Given the description of an element on the screen output the (x, y) to click on. 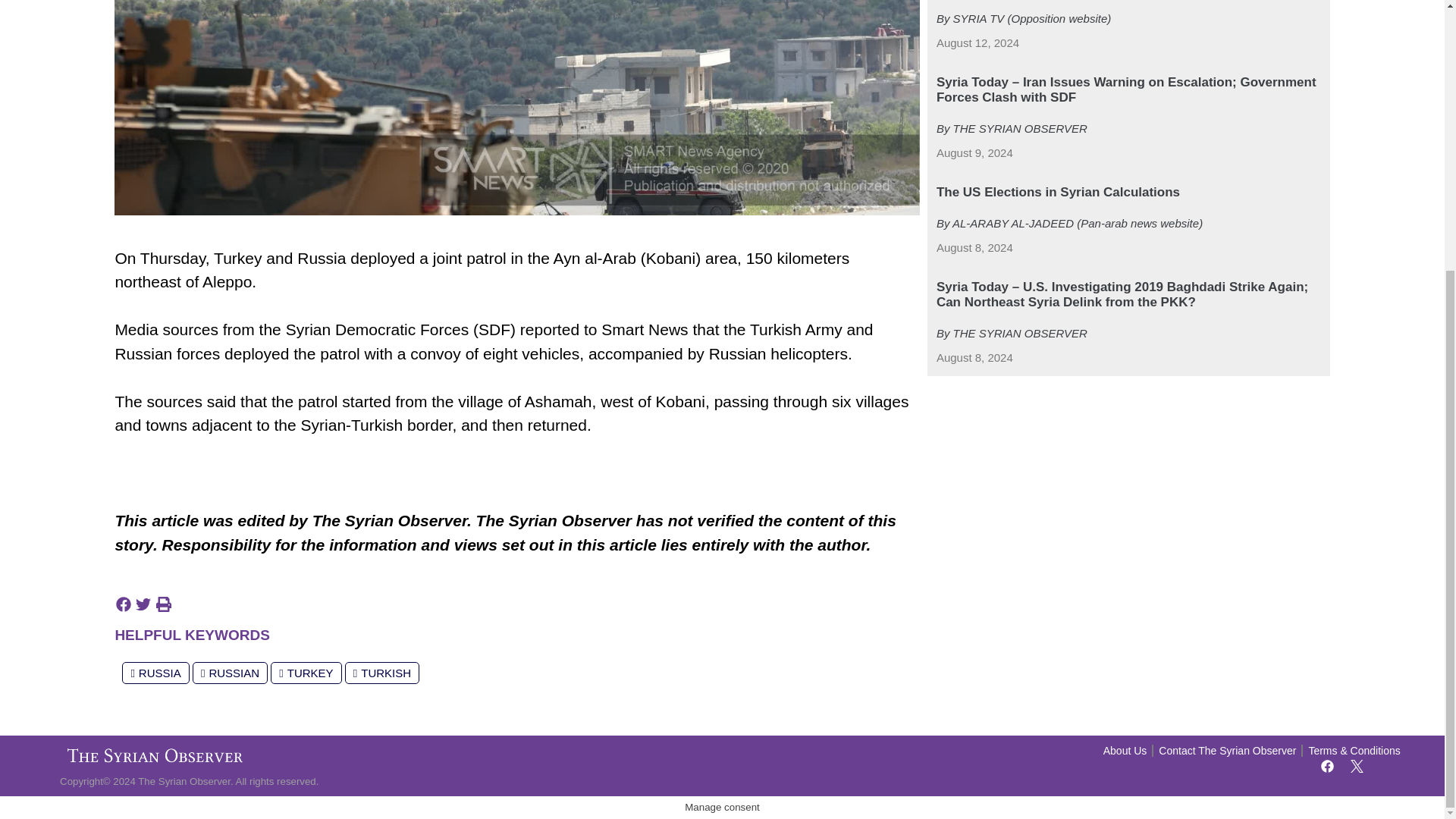
Contact The Syrian Observer (1227, 750)
TURKISH (382, 672)
RUSSIA (155, 672)
August 12, 2024 (977, 43)
August 8, 2024 (974, 248)
TURKEY (305, 672)
August 9, 2024 (974, 153)
The US Elections in Syrian Calculations (1057, 192)
August 8, 2024 (974, 357)
RUSSIAN (229, 672)
